Given the description of an element on the screen output the (x, y) to click on. 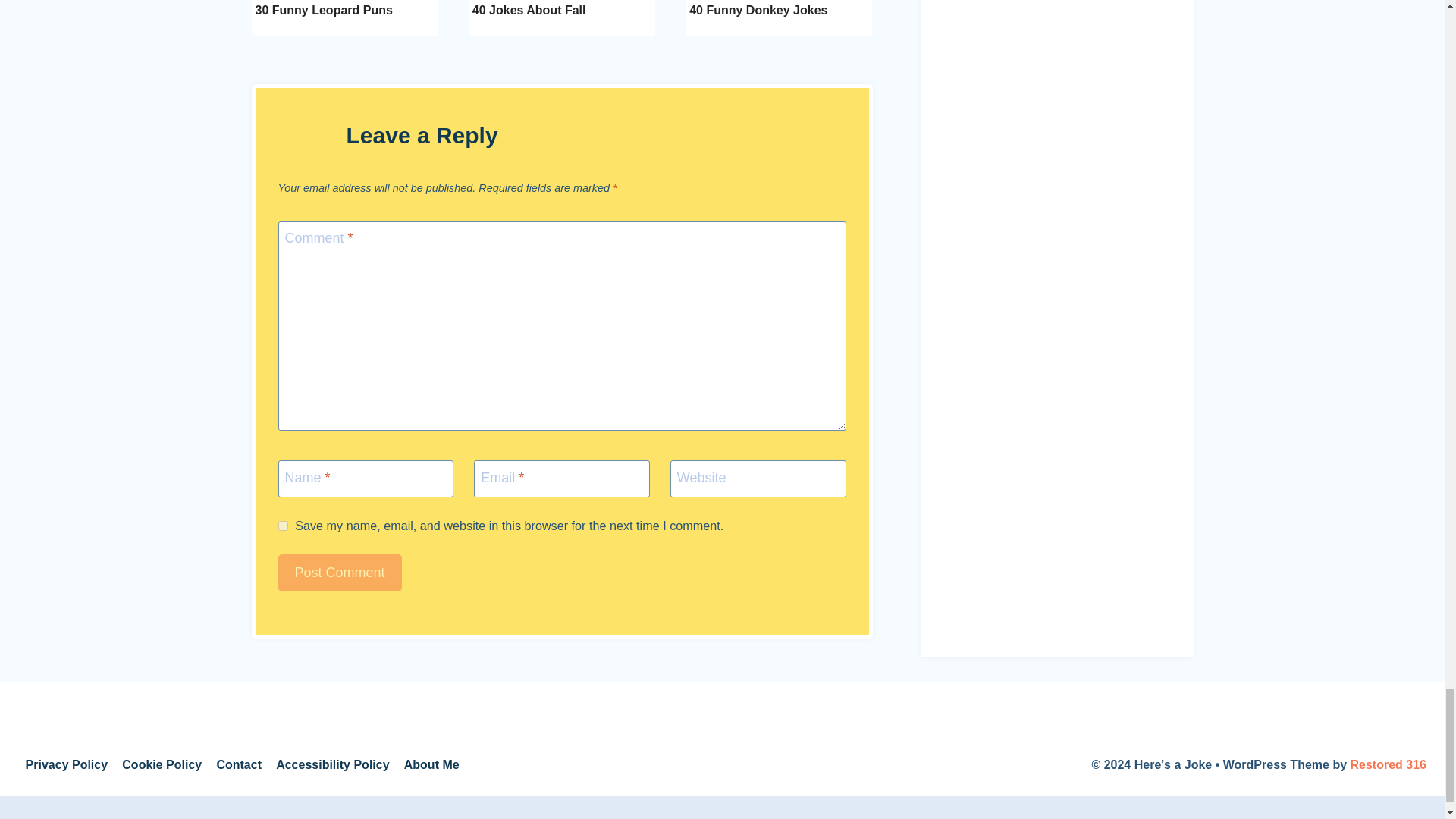
Post Comment (339, 572)
yes (282, 525)
